Given the description of an element on the screen output the (x, y) to click on. 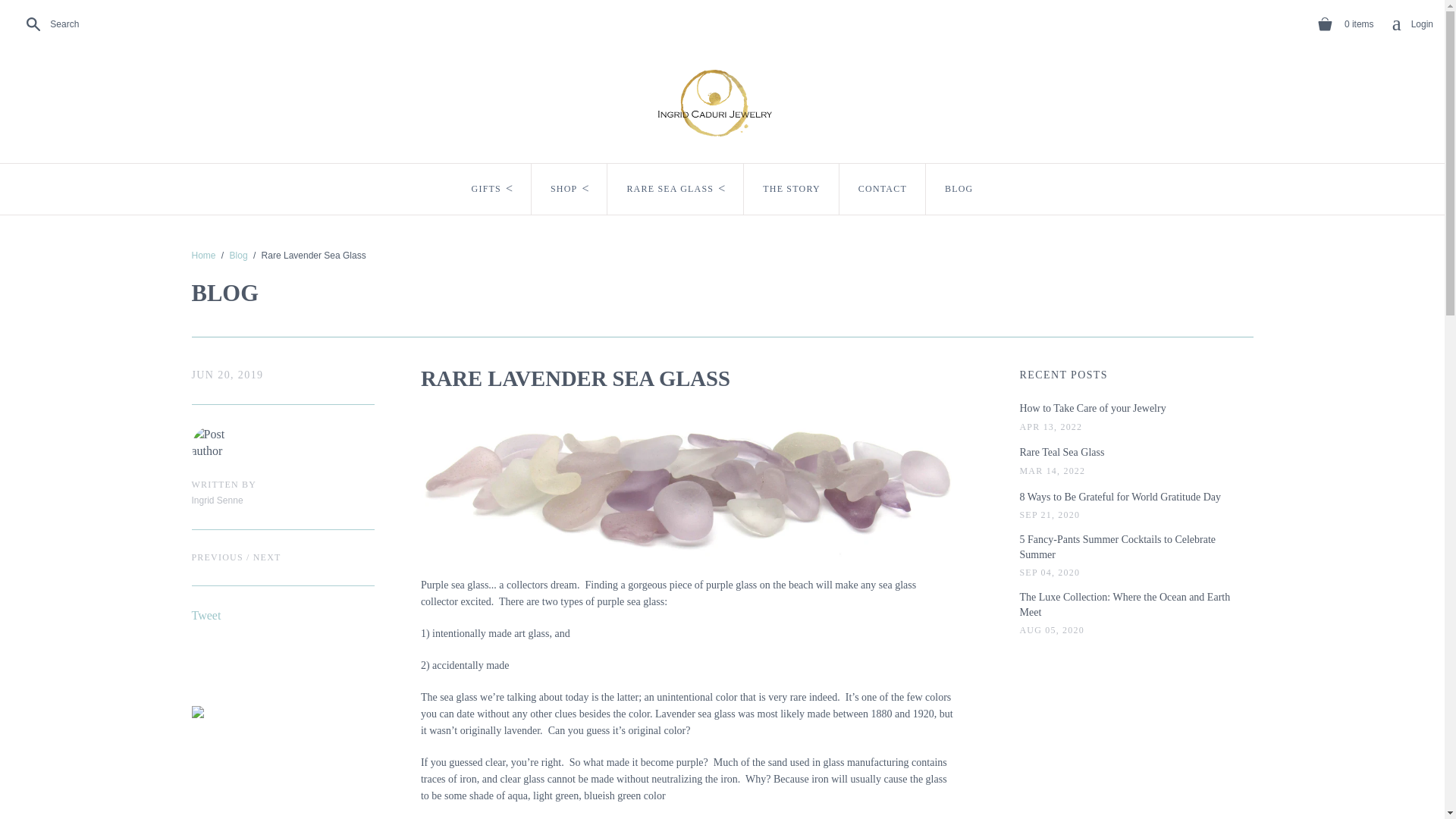
CONTACT (883, 188)
BLOG (958, 188)
Search (1411, 24)
THE STORY (48, 24)
